Given the description of an element on the screen output the (x, y) to click on. 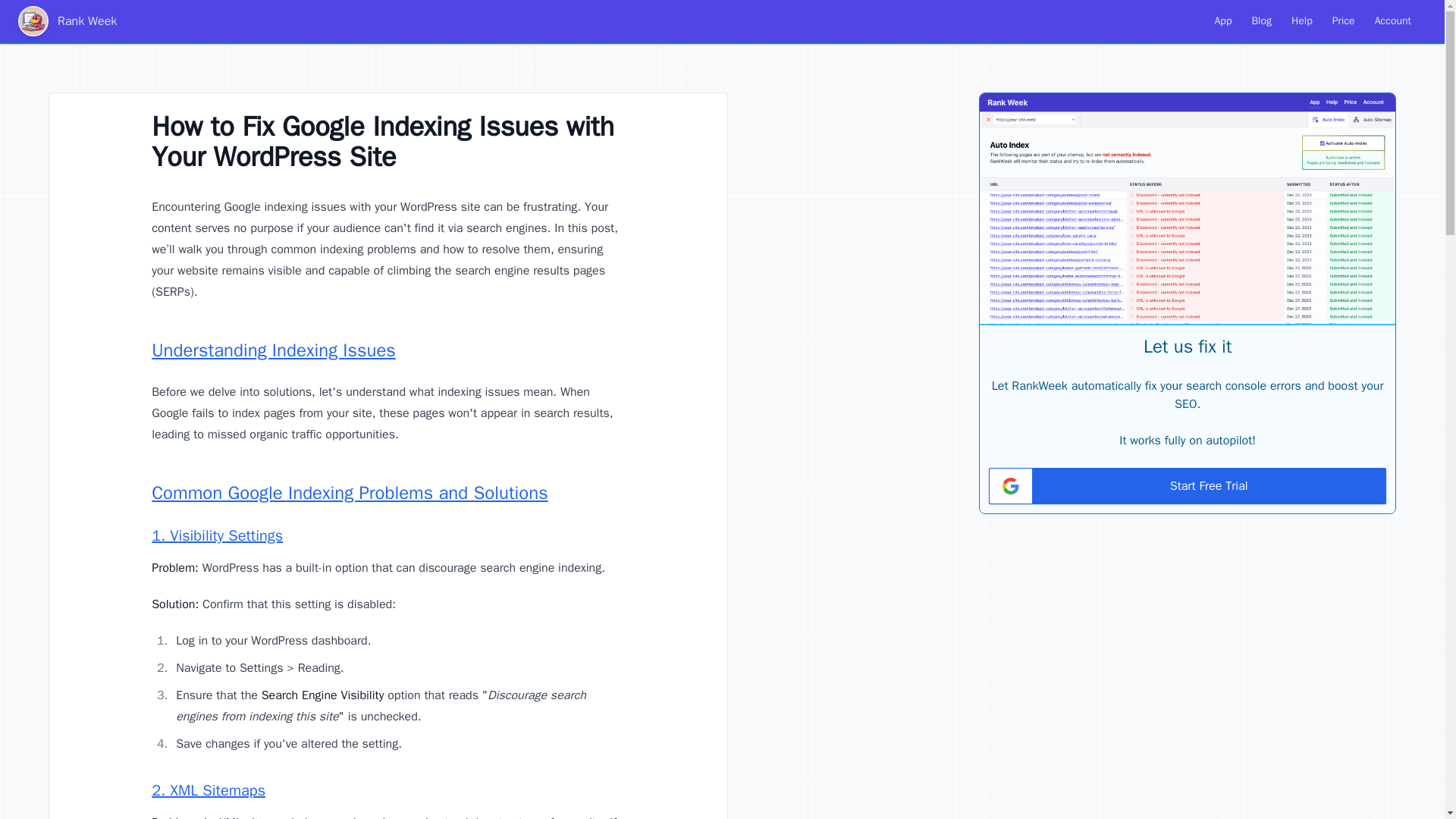
Common Google Indexing Problems and Solutions (349, 492)
Help (1302, 20)
Price (1343, 20)
1. Visibility Settings (216, 535)
Start Free Trial (1187, 485)
2. XML Sitemaps (207, 790)
Account (1393, 20)
Blog (1261, 20)
Understanding Indexing Issues (273, 350)
Rank Week (66, 20)
App (1223, 20)
